Given the description of an element on the screen output the (x, y) to click on. 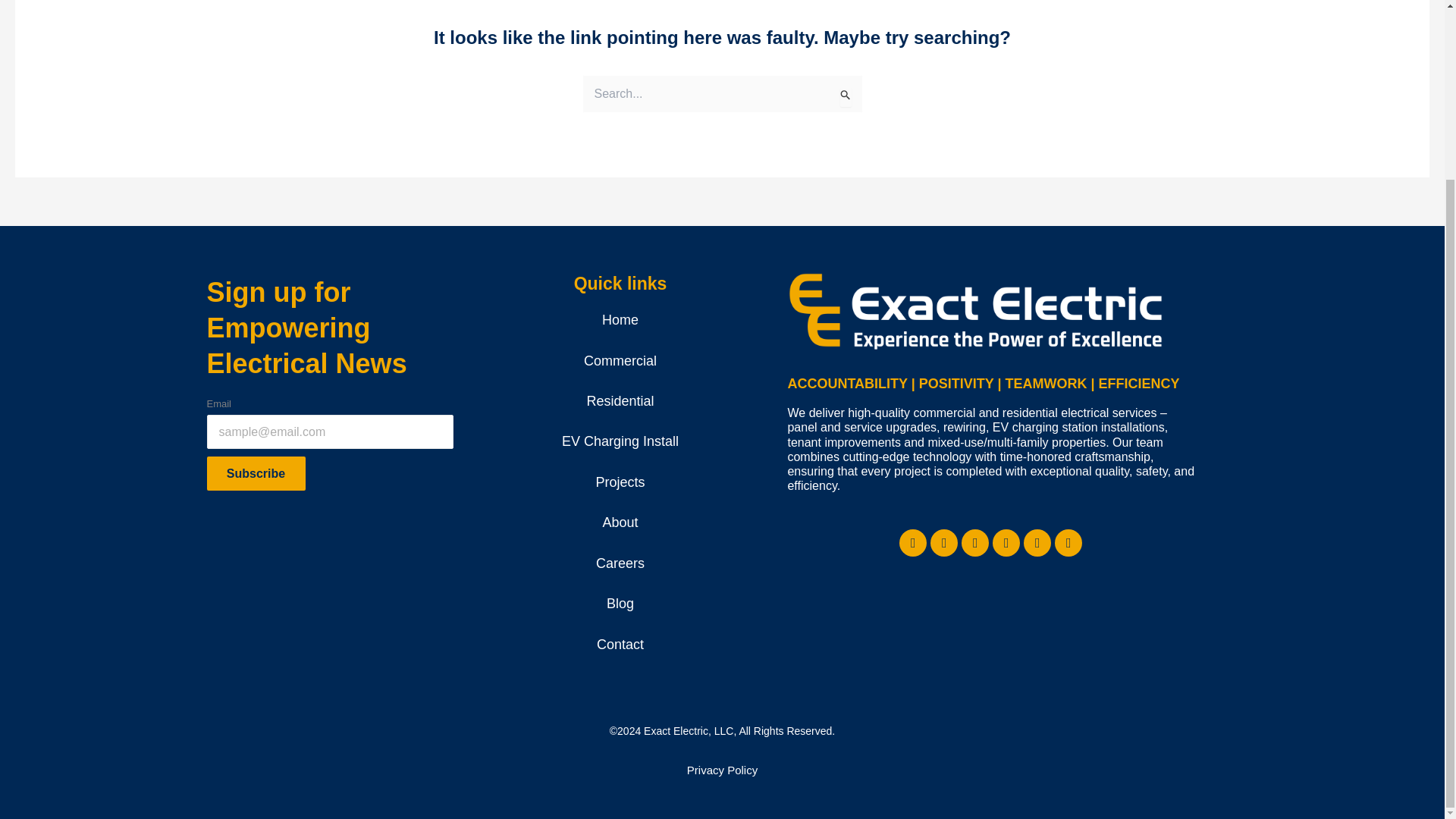
Home (620, 319)
Subscribe (255, 473)
Search (844, 96)
Search (844, 96)
Search (844, 96)
